Given the description of an element on the screen output the (x, y) to click on. 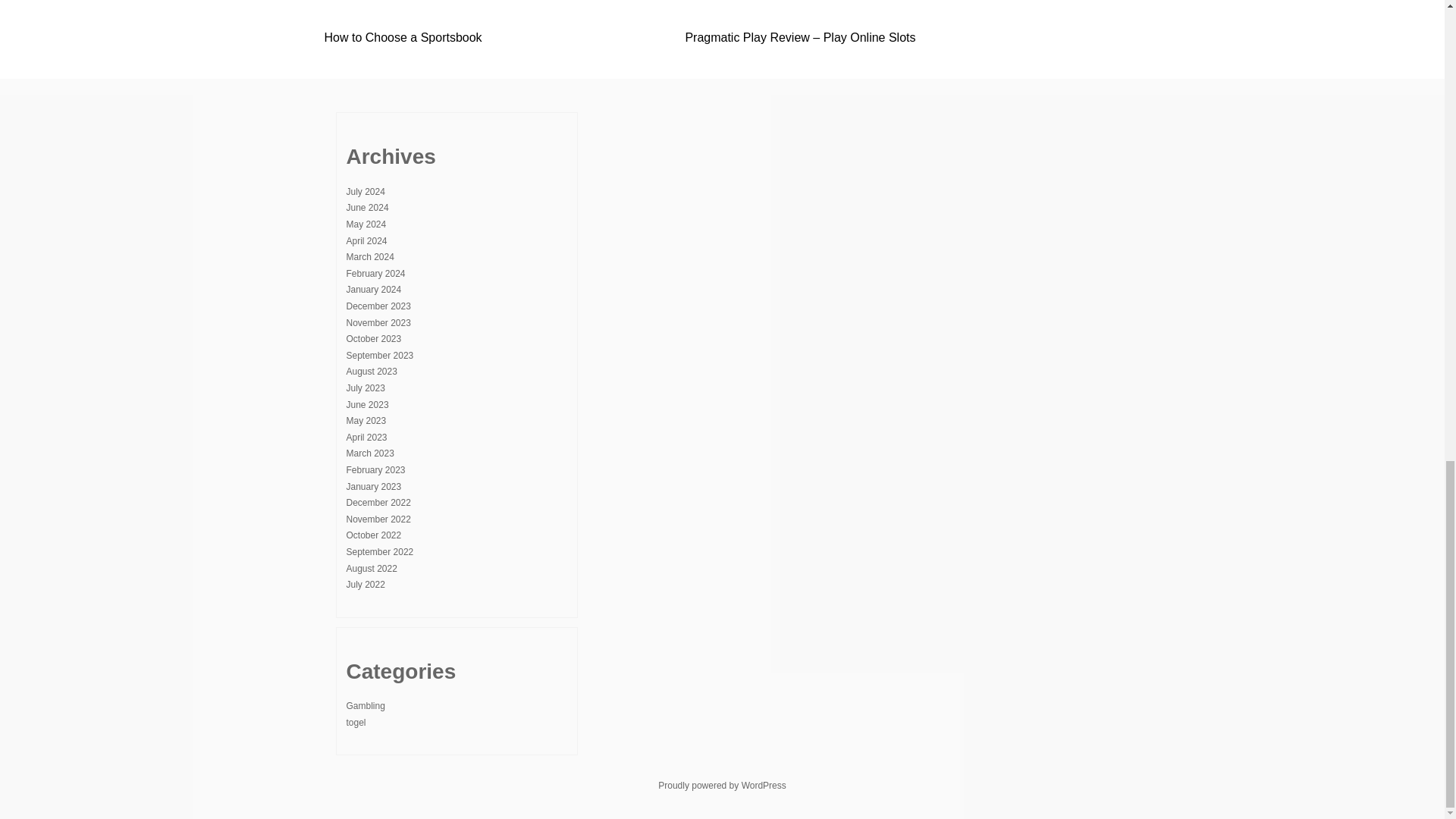
October 2022 (373, 534)
January 2023 (373, 486)
June 2023 (367, 404)
September 2023 (379, 355)
February 2024 (375, 273)
April 2023 (366, 437)
April 2024 (366, 240)
August 2023 (371, 371)
December 2023 (378, 306)
December 2022 (378, 502)
May 2024 (365, 224)
February 2023 (375, 470)
March 2023 (369, 452)
January 2024 (373, 289)
November 2022 (378, 519)
